Given the description of an element on the screen output the (x, y) to click on. 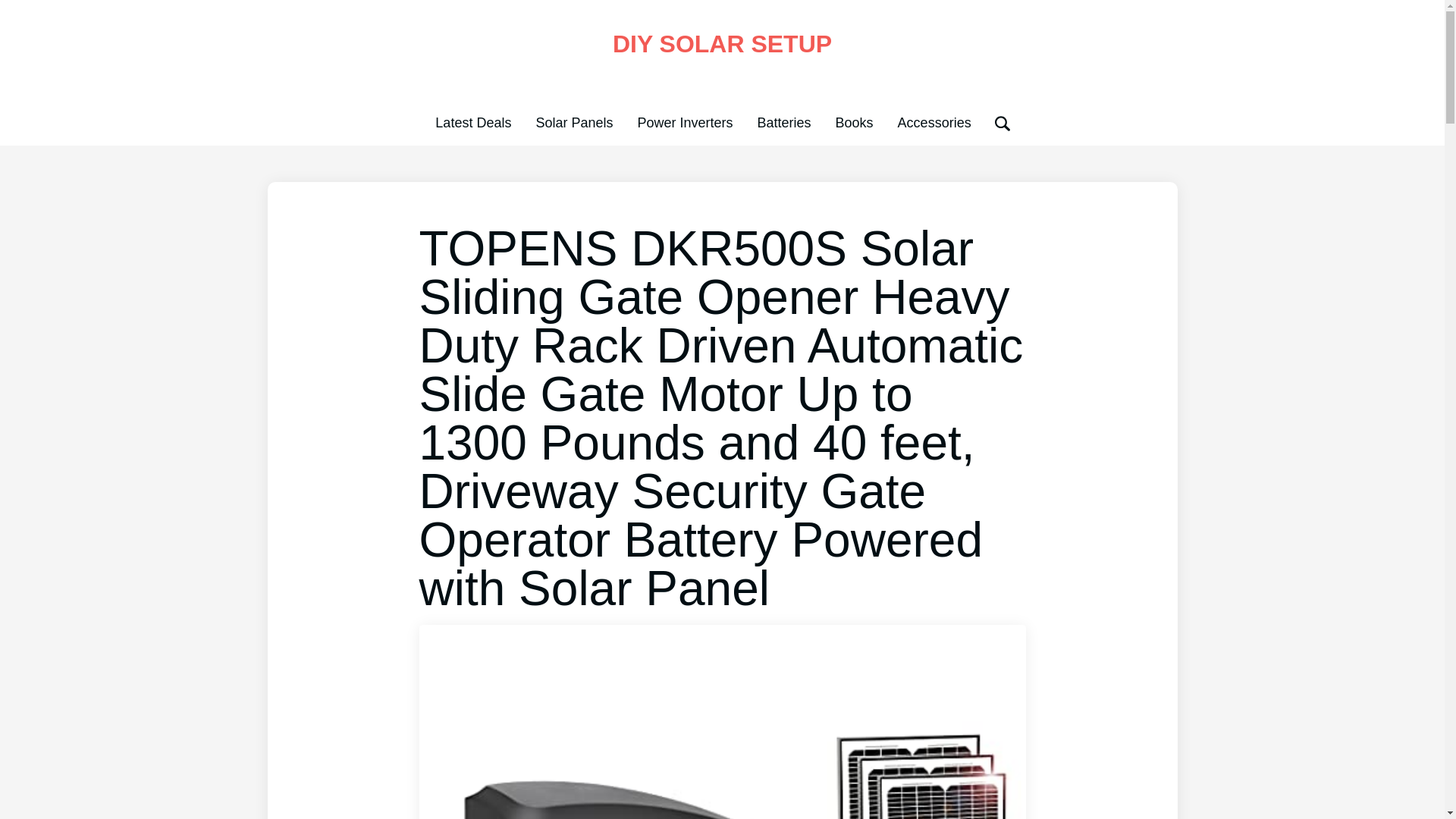
Latest Deals (473, 122)
DIY SOLAR SETUP (721, 43)
Power Inverters (684, 122)
Batteries (783, 122)
Solar Panels (573, 122)
Books (854, 122)
Accessories (934, 122)
